Given the description of an element on the screen output the (x, y) to click on. 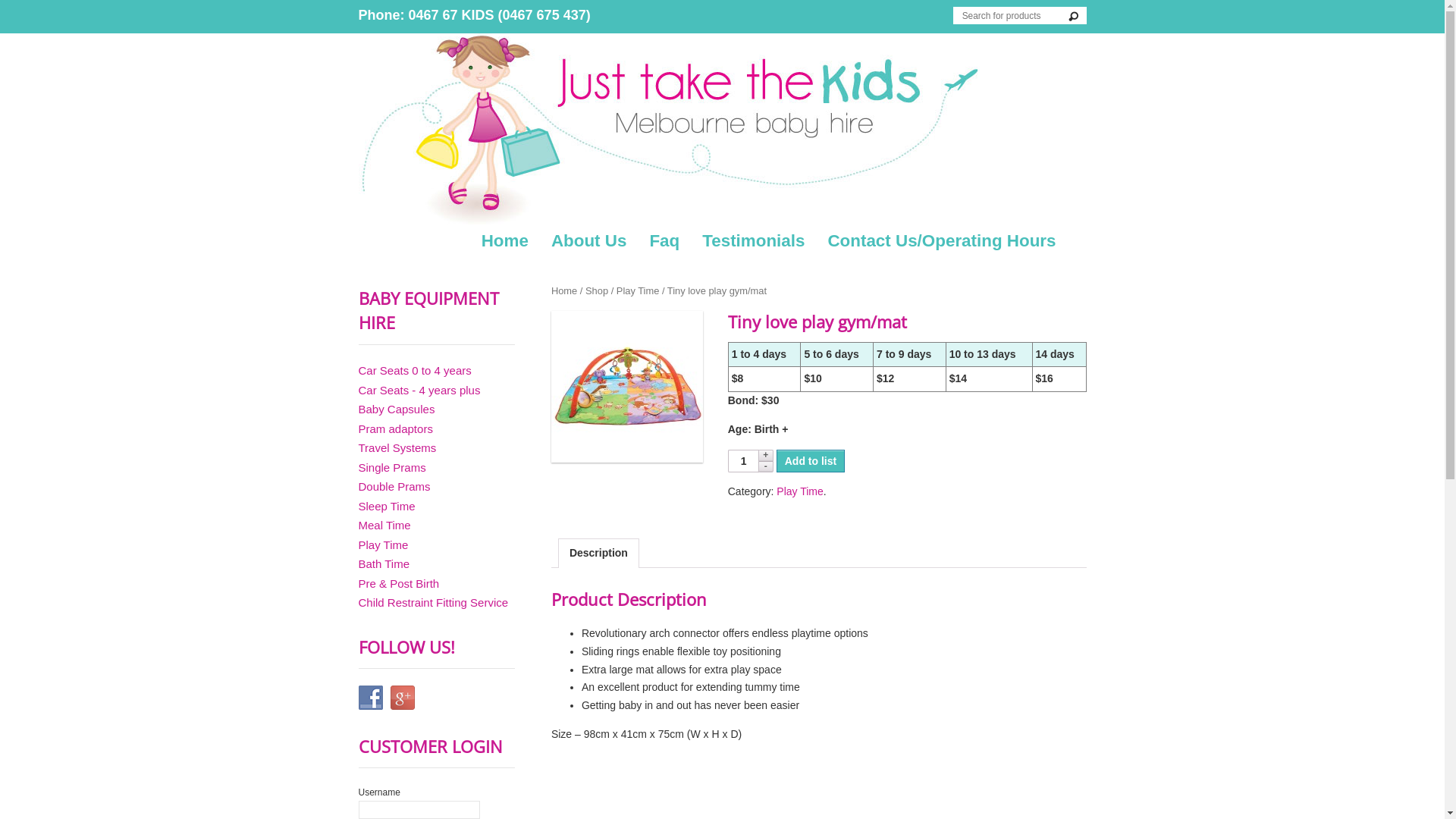
Testimonials Element type: text (753, 240)
Search Element type: text (1076, 16)
Bath Time Element type: text (383, 563)
Add to list Element type: text (810, 460)
Follow Us on Google+ Element type: hover (401, 697)
Play Time Element type: text (382, 544)
Pram adaptors Element type: text (394, 428)
Sleep Time Element type: text (385, 505)
Home Element type: text (504, 240)
Car Seats 0 to 4 years Element type: text (413, 370)
Travel Systems Element type: text (396, 447)
Meal Time Element type: text (383, 524)
Child Restraint Fitting Service Element type: text (432, 602)
Description Element type: text (598, 552)
Just Take The Kids Element type: text (721, 129)
Play Time Element type: text (799, 491)
Contact Us/Operating Hours Element type: text (941, 240)
Double Prams Element type: text (393, 486)
Shop Element type: text (596, 290)
Home Element type: text (564, 290)
Play Time Element type: text (637, 290)
Pre & Post Birth Element type: text (398, 583)
Single Prams Element type: text (391, 467)
About Us Element type: text (589, 240)
Follow Us on Facebook Element type: hover (369, 697)
Baby Capsules Element type: text (395, 408)
Car Seats - 4 years plus Element type: text (418, 389)
Faq Element type: text (664, 240)
tinylove play mat Element type: hover (626, 386)
Qty Element type: hover (743, 460)
